Given the description of an element on the screen output the (x, y) to click on. 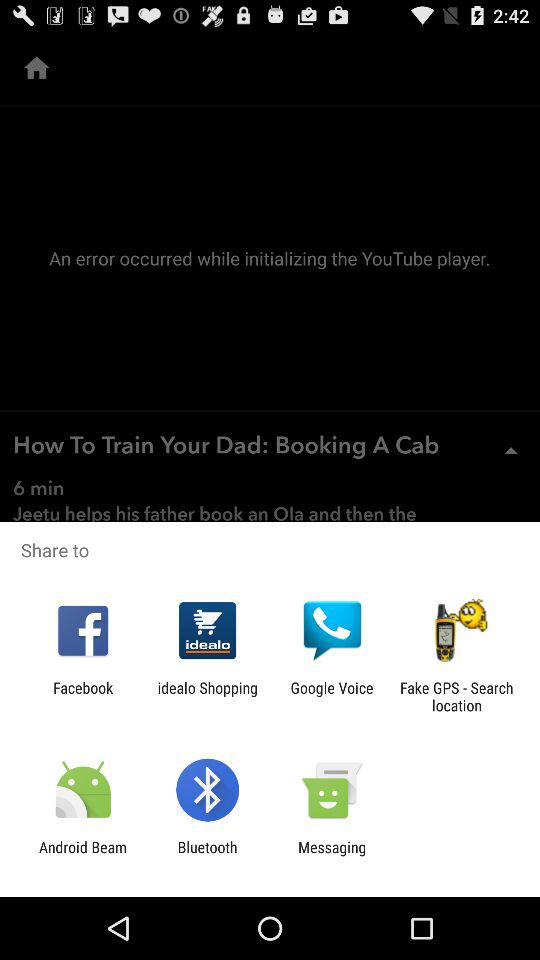
tap the android beam app (83, 856)
